Given the description of an element on the screen output the (x, y) to click on. 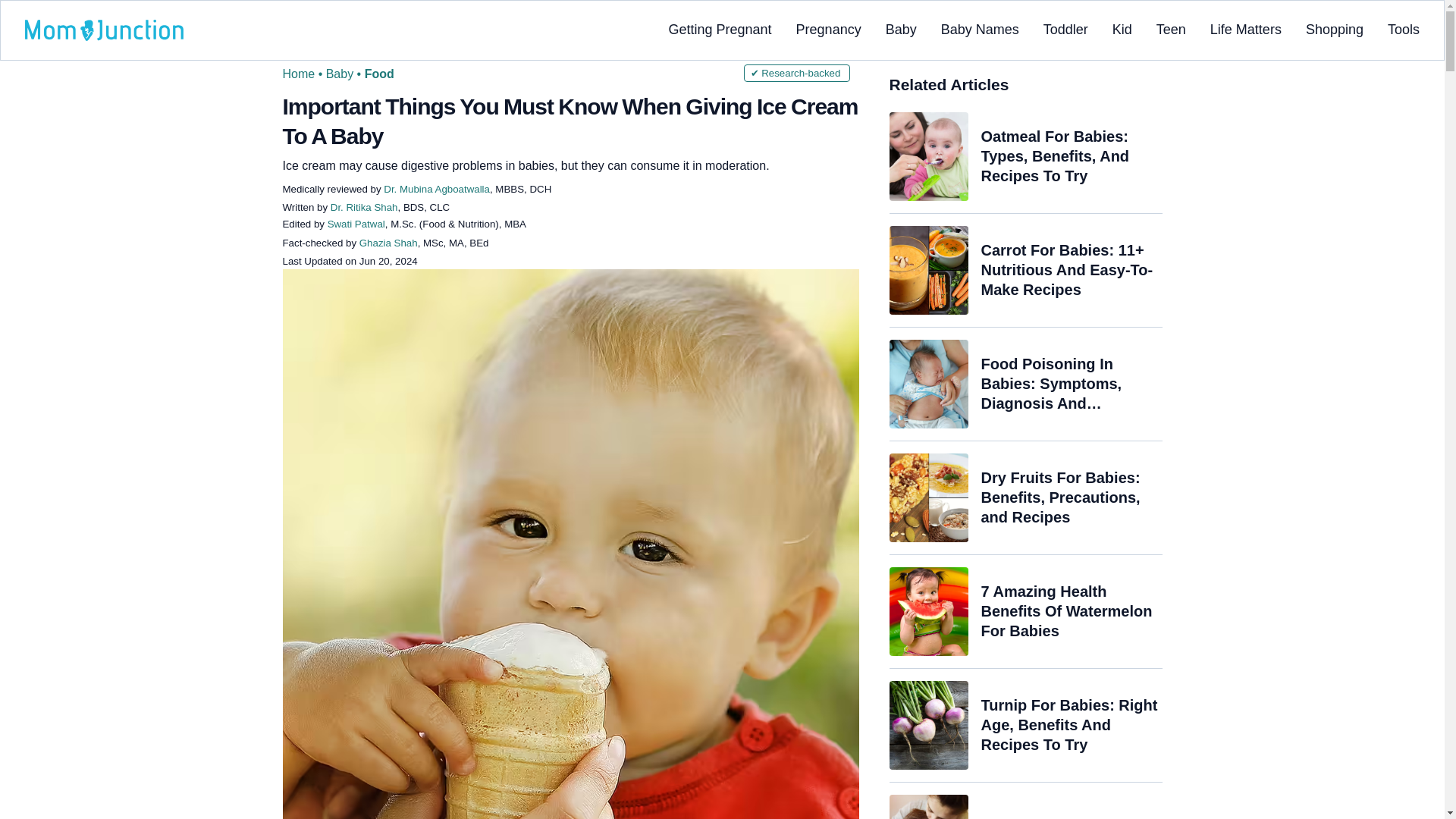
Toddler (1065, 29)
Getting Pregnant (719, 29)
Pregnancy (828, 29)
Baby Names (979, 29)
